Given the description of an element on the screen output the (x, y) to click on. 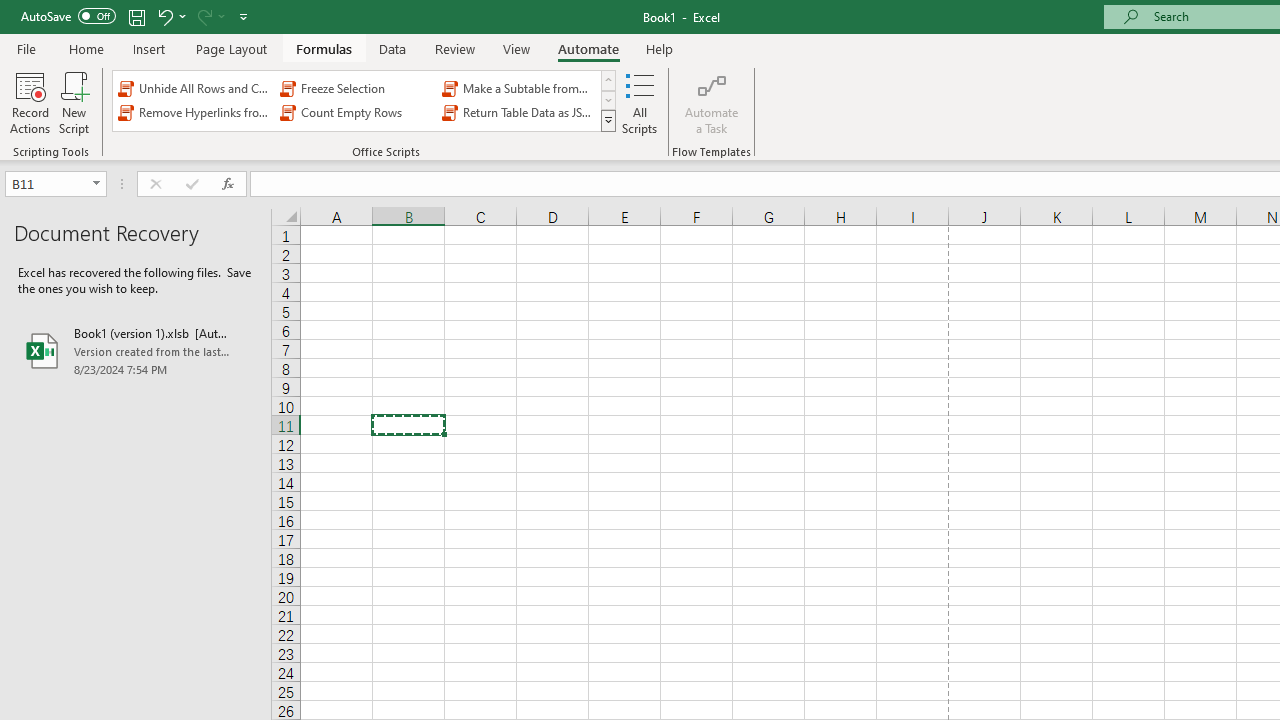
All Scripts (639, 102)
Record Actions (29, 102)
Count Empty Rows (356, 112)
